Given the description of an element on the screen output the (x, y) to click on. 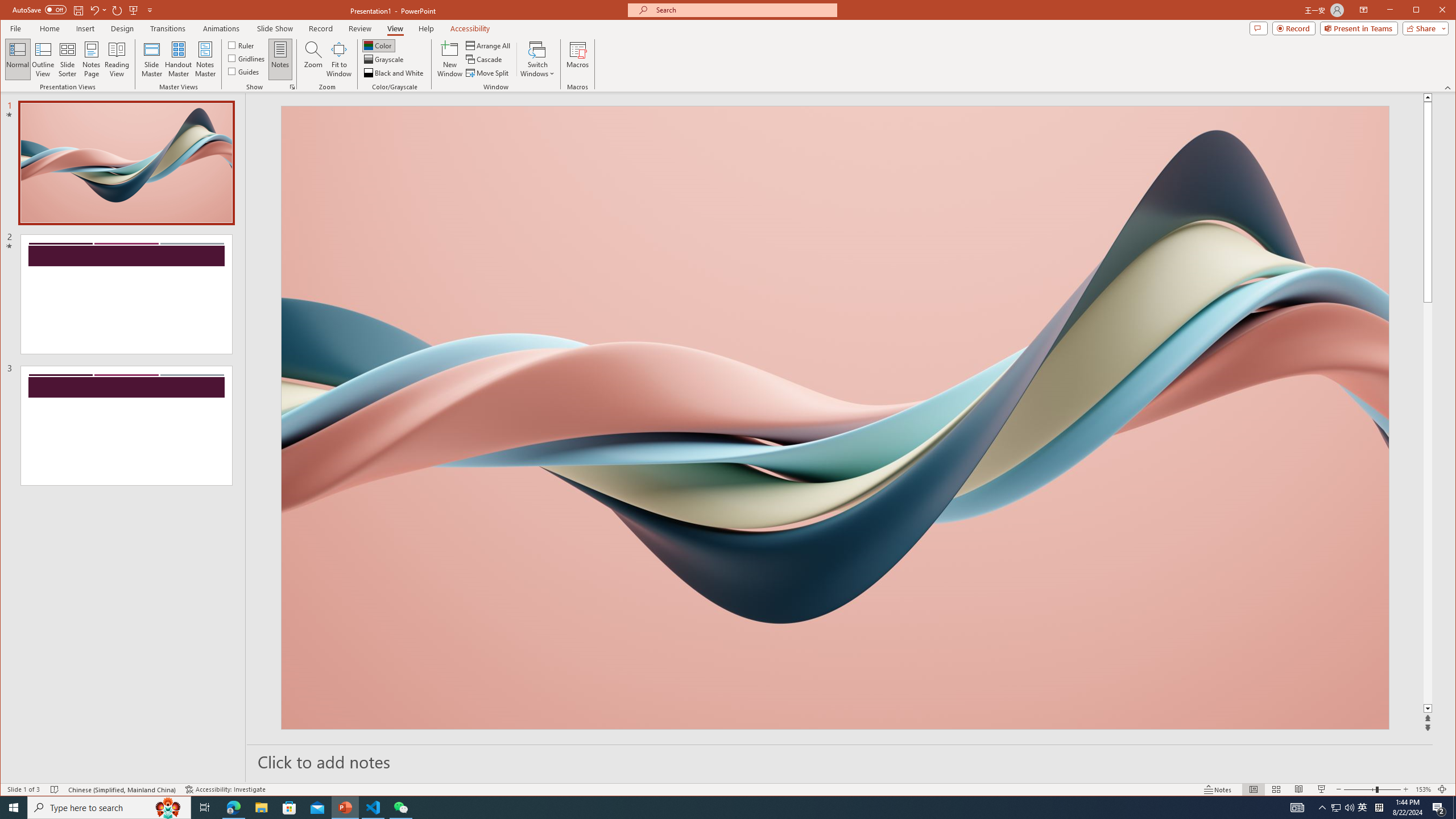
Arrange All (488, 45)
Black and White (394, 72)
Zoom 153% (1422, 789)
